Given the description of an element on the screen output the (x, y) to click on. 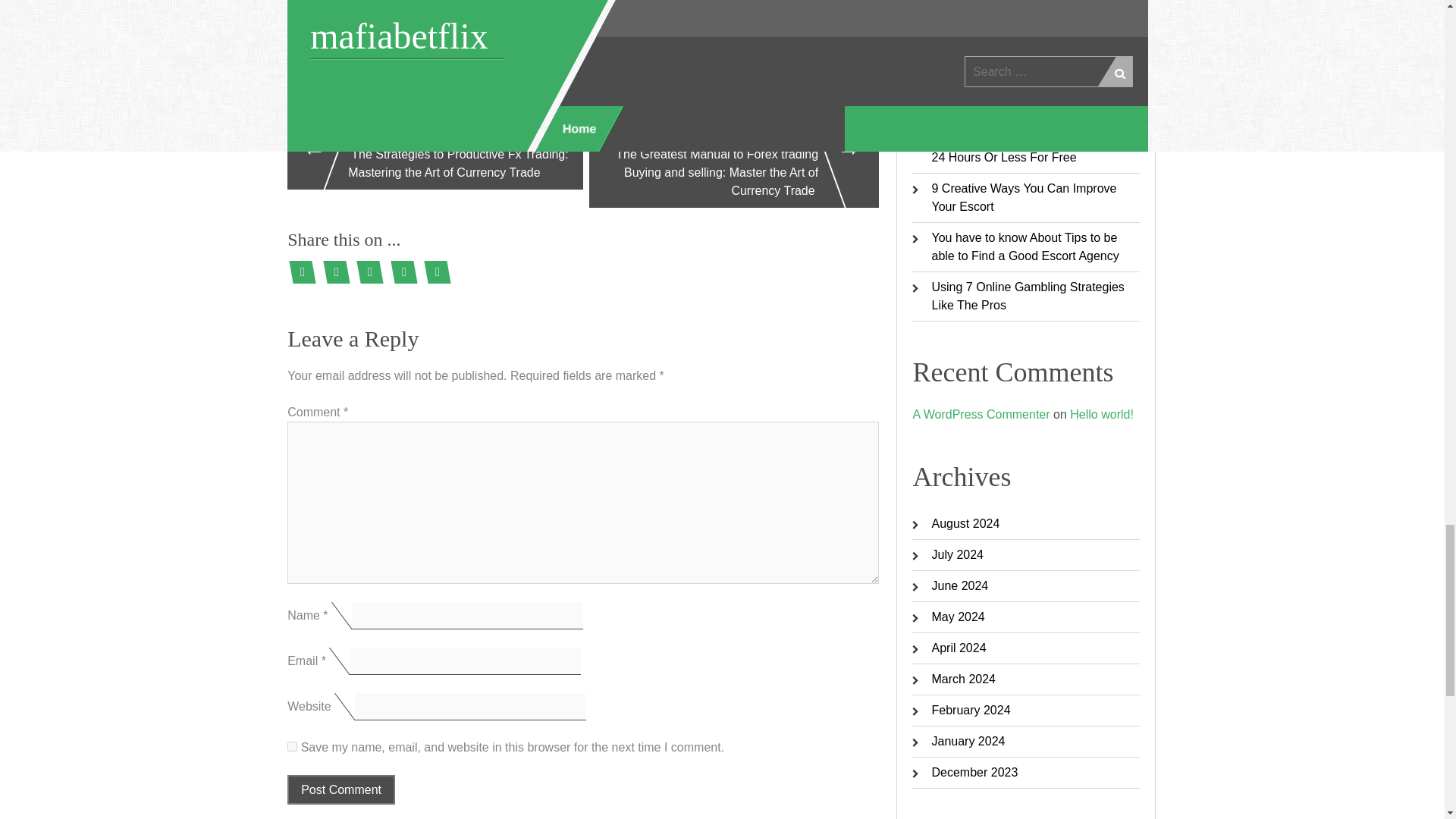
Post Comment (340, 789)
Post Comment (340, 789)
yes (291, 746)
Blog (310, 20)
